Given the description of an element on the screen output the (x, y) to click on. 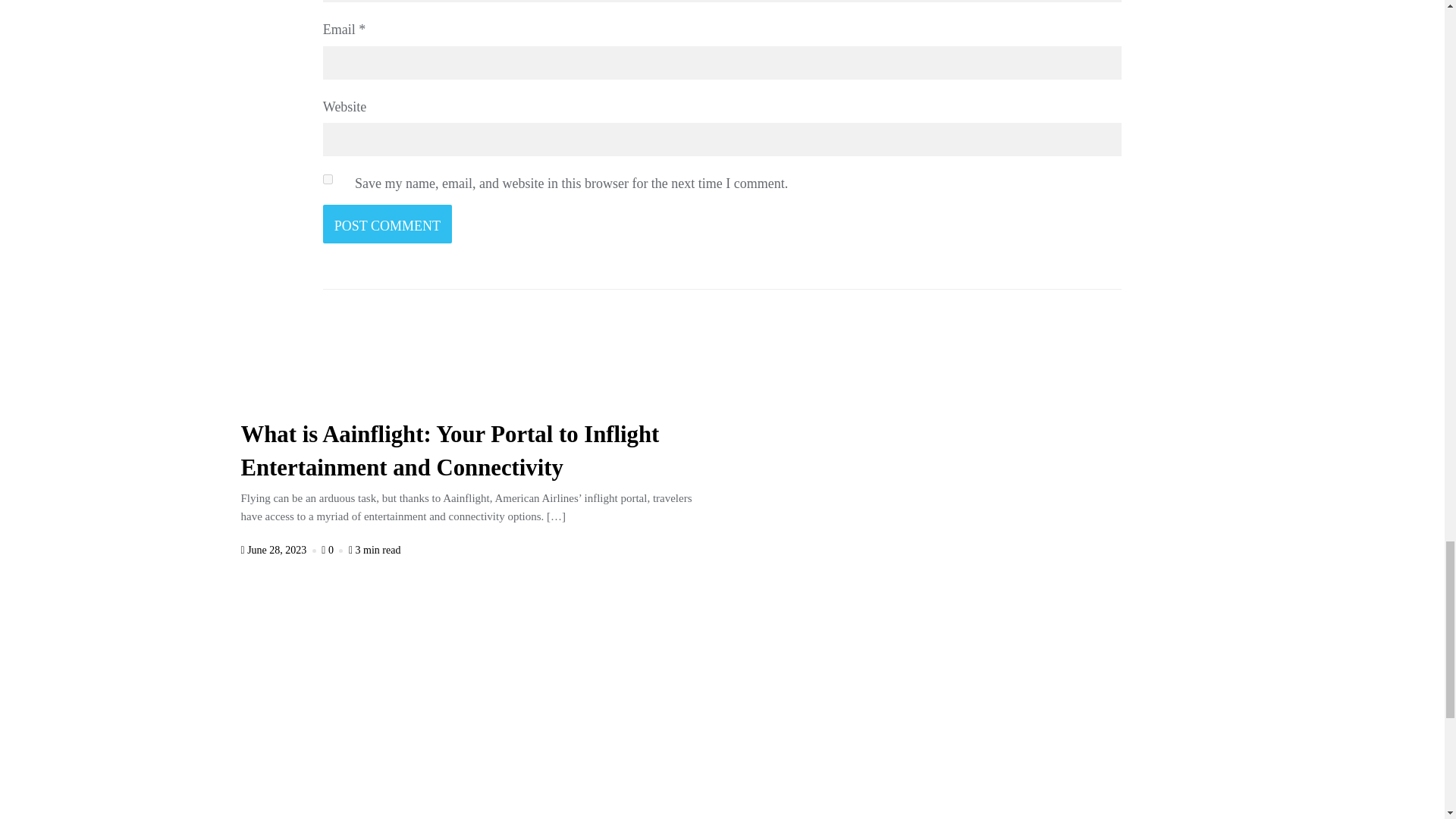
Post Comment (387, 223)
Post Comment (387, 223)
yes (328, 179)
